Given the description of an element on the screen output the (x, y) to click on. 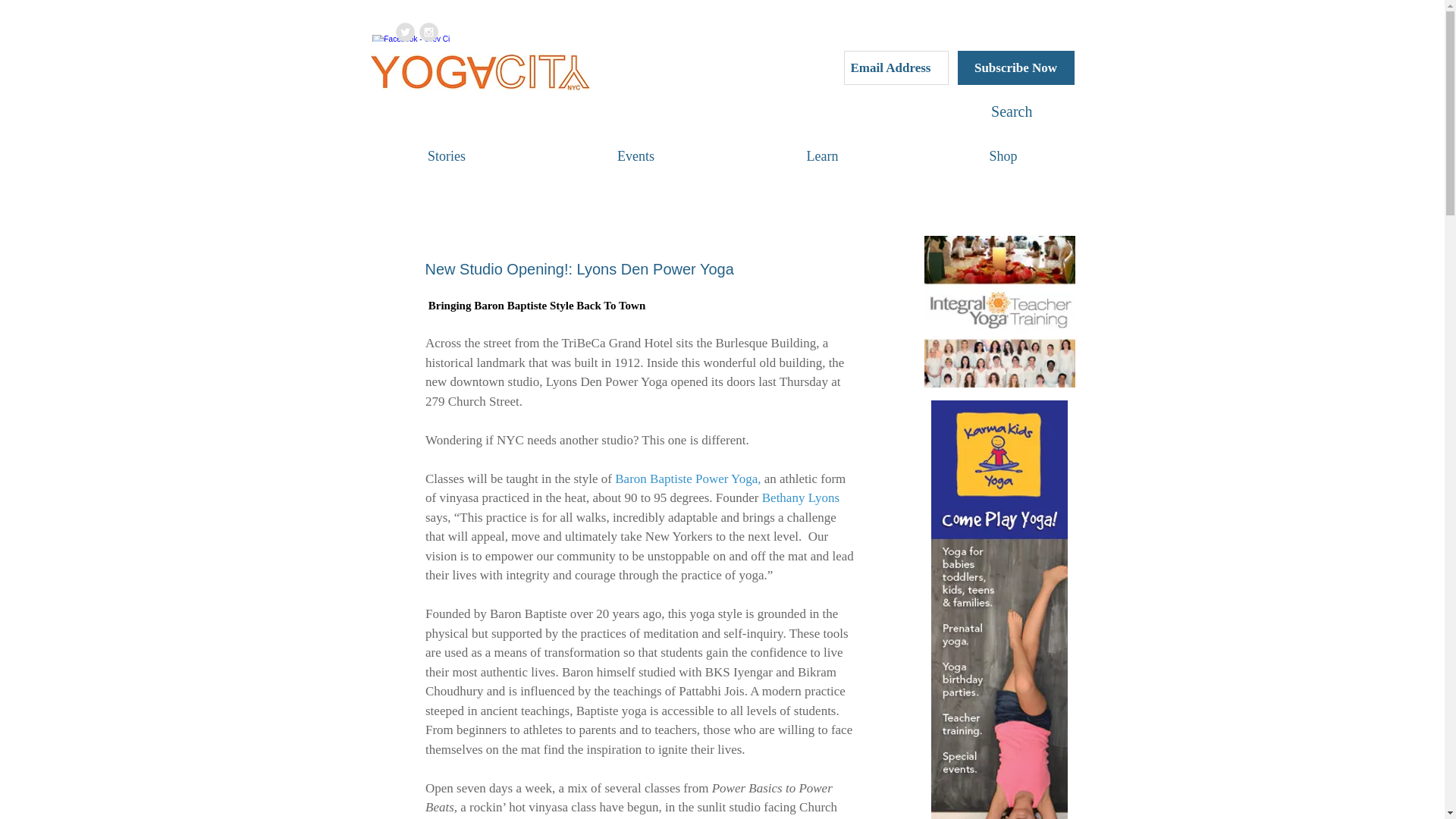
Baron Baptiste Power Yoga, (687, 478)
Subscribe Now (1015, 67)
YogaCity NYC (480, 71)
Bethany Lyons (799, 497)
Search (977, 111)
